Given the description of an element on the screen output the (x, y) to click on. 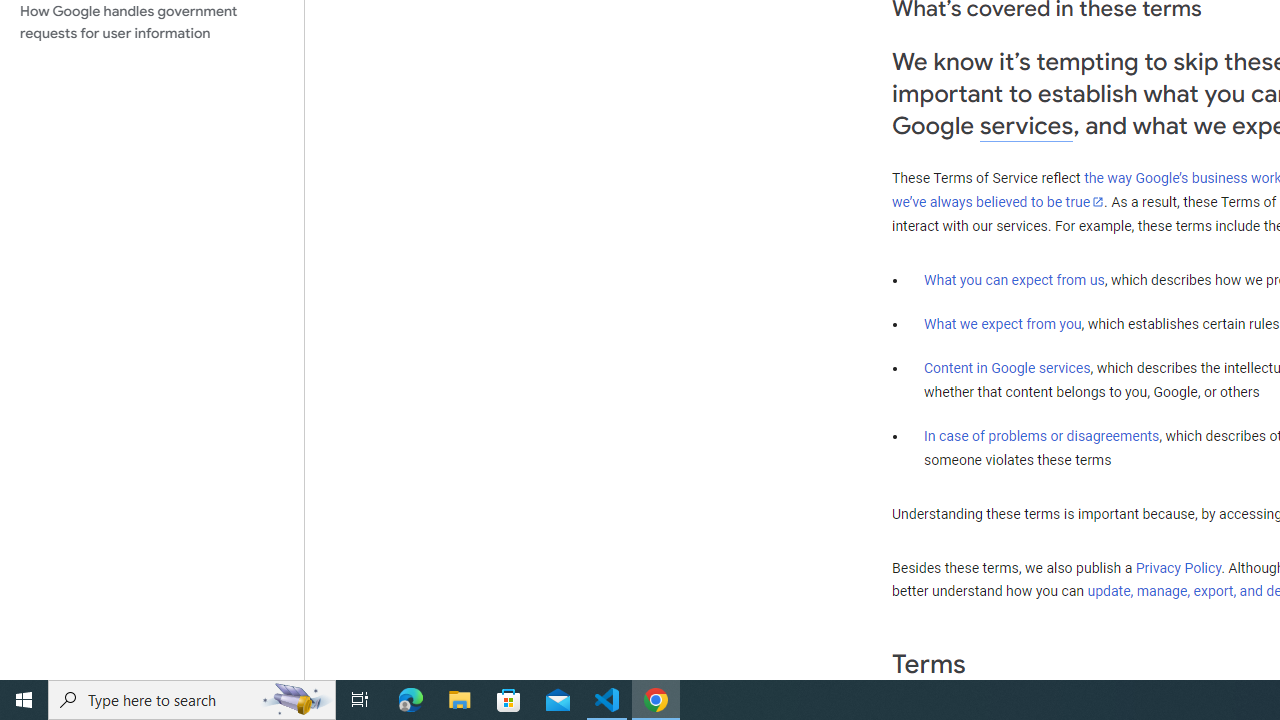
Content in Google services (1007, 368)
What we expect from you (1002, 323)
What you can expect from us (1014, 279)
services (1026, 125)
In case of problems or disagreements (1041, 435)
